Given the description of an element on the screen output the (x, y) to click on. 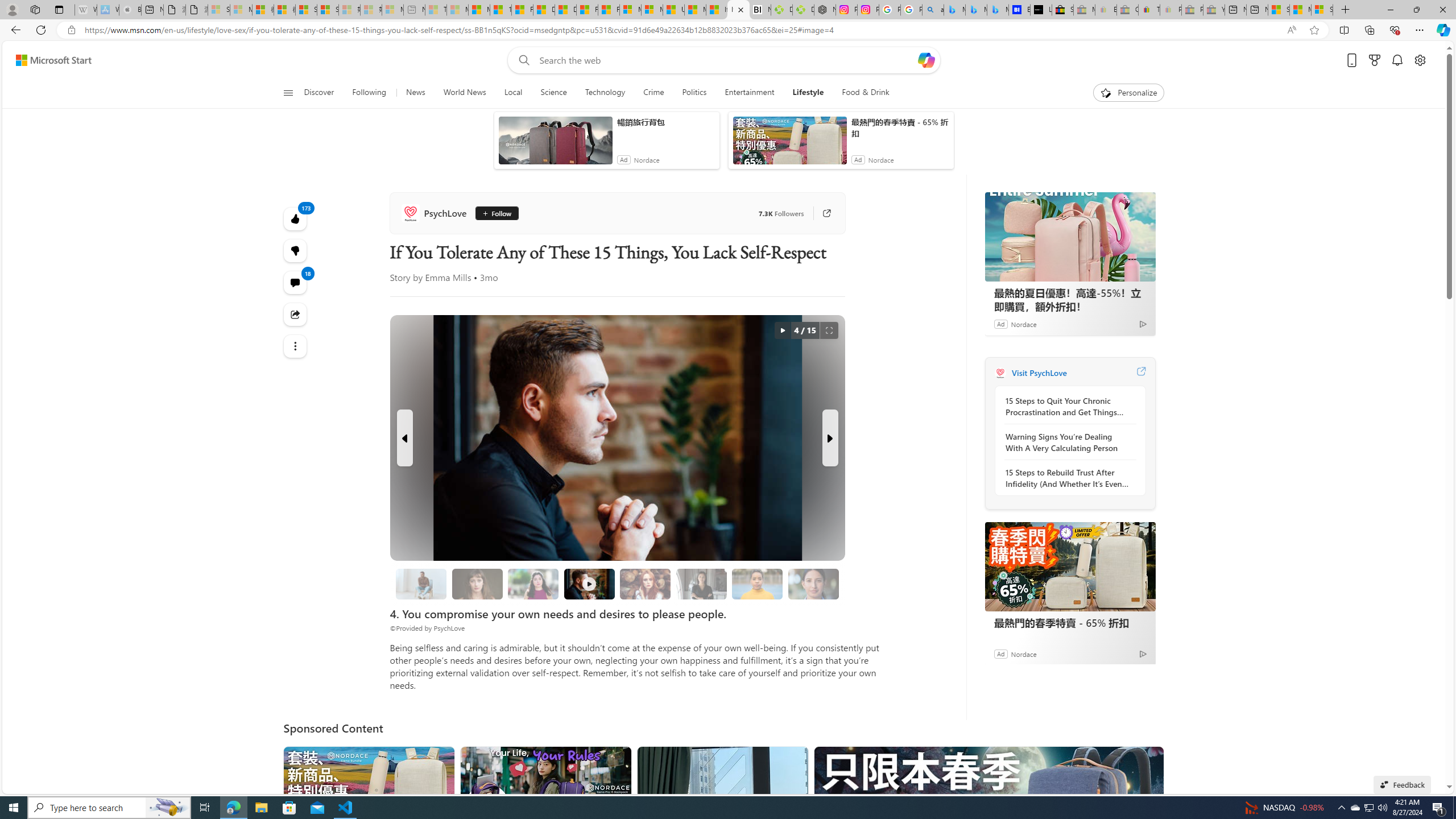
Buy iPad - Apple - Sleeping (130, 9)
173 (295, 250)
Go to publisher's site (820, 213)
